Given the description of an element on the screen output the (x, y) to click on. 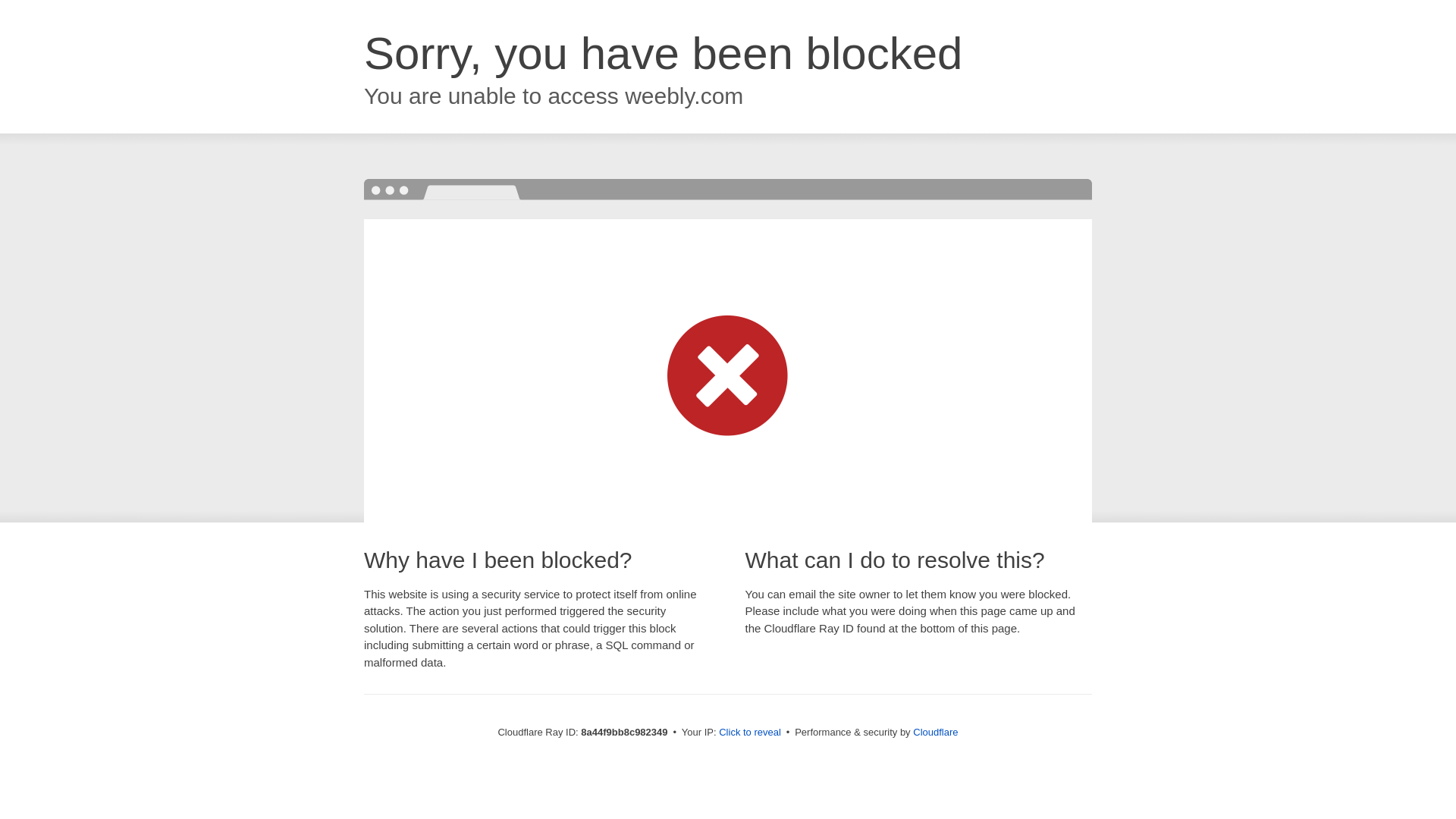
Click to reveal (749, 732)
Cloudflare (935, 731)
